Given the description of an element on the screen output the (x, y) to click on. 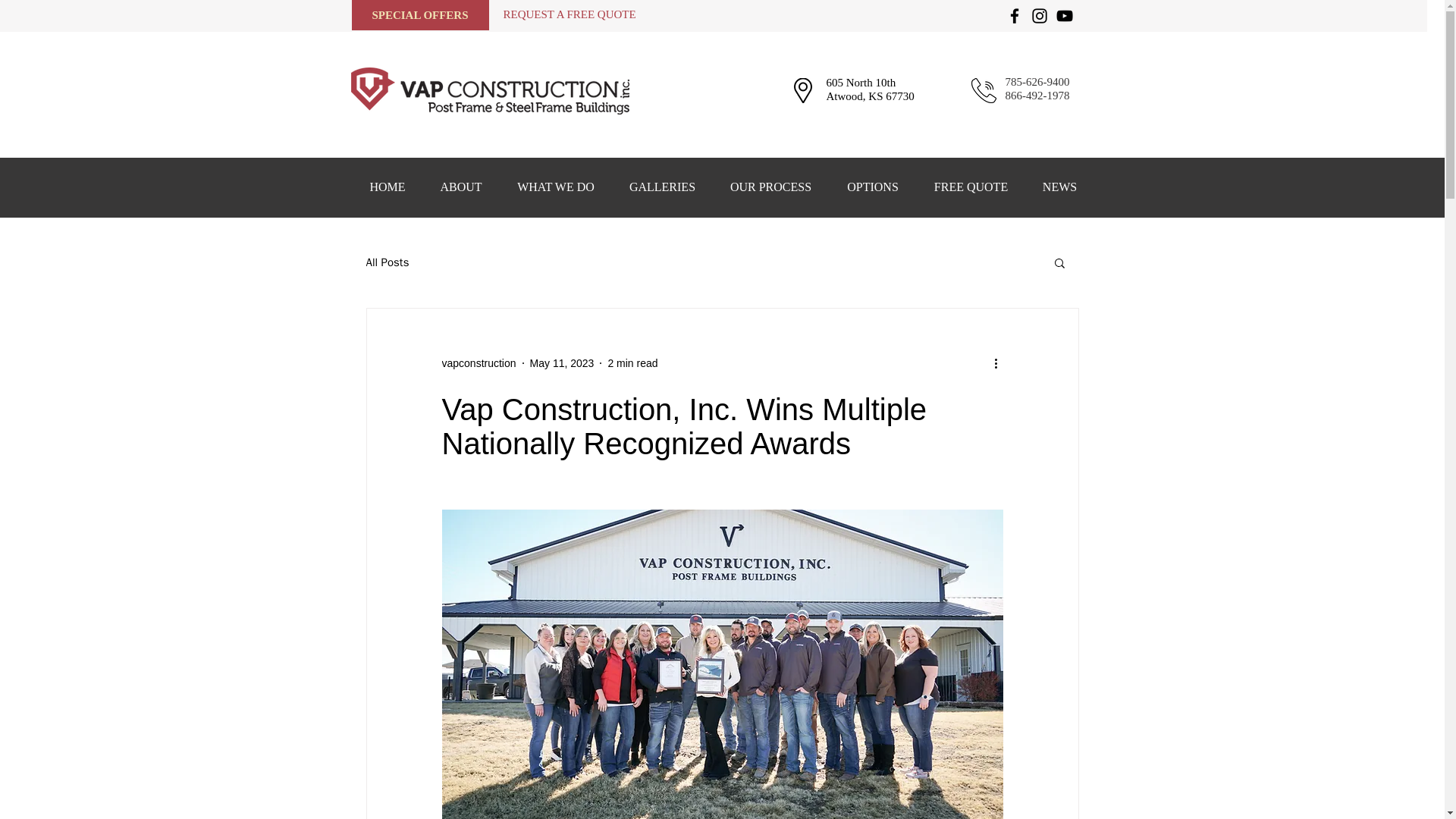
NEWS (1059, 187)
OPTIONS (873, 187)
HOME (387, 187)
OUR PROCESS (771, 187)
SPECIAL OFFERS (420, 15)
vapconstruction (478, 362)
All Posts (387, 261)
May 11, 2023 (561, 362)
2 min read (632, 362)
REQUEST A FREE QUOTE (569, 13)
